Given the description of an element on the screen output the (x, y) to click on. 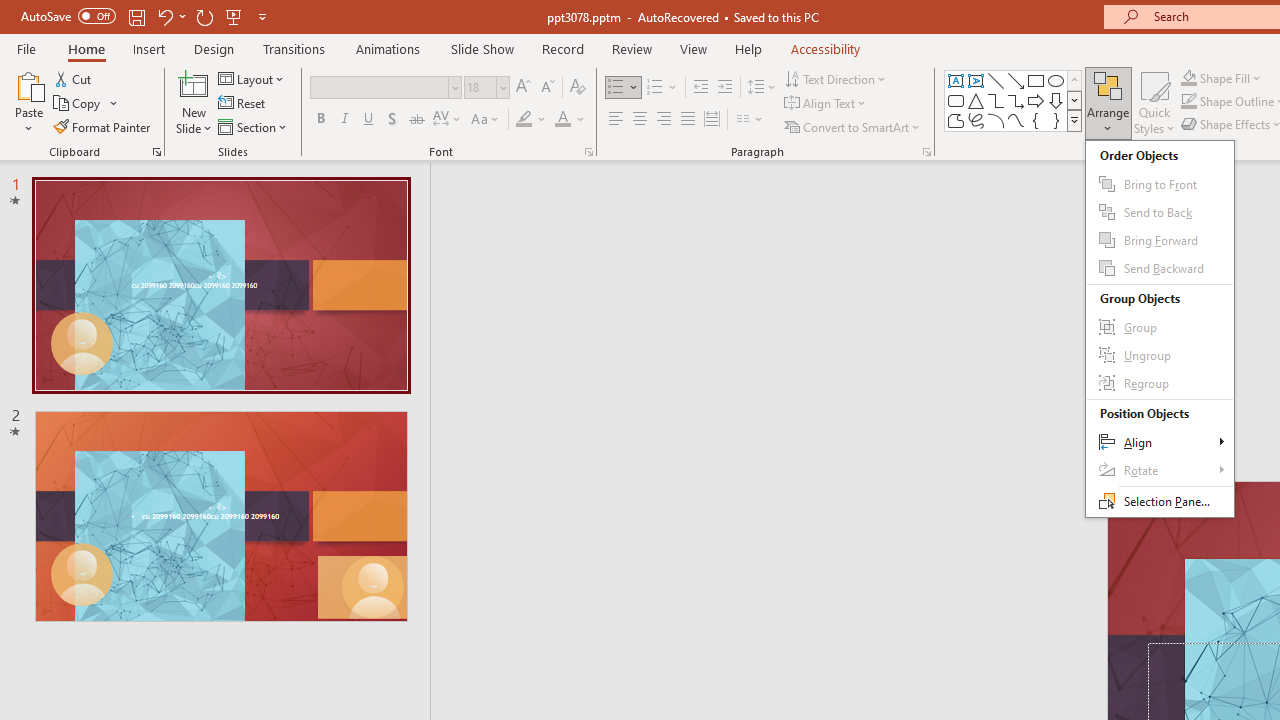
Connector: Elbow (995, 100)
Arrow: Down (1055, 100)
Rectangle (1035, 80)
Line (995, 80)
Freeform: Scribble (975, 120)
Curve (1016, 120)
Increase Indent (725, 87)
